Given the description of an element on the screen output the (x, y) to click on. 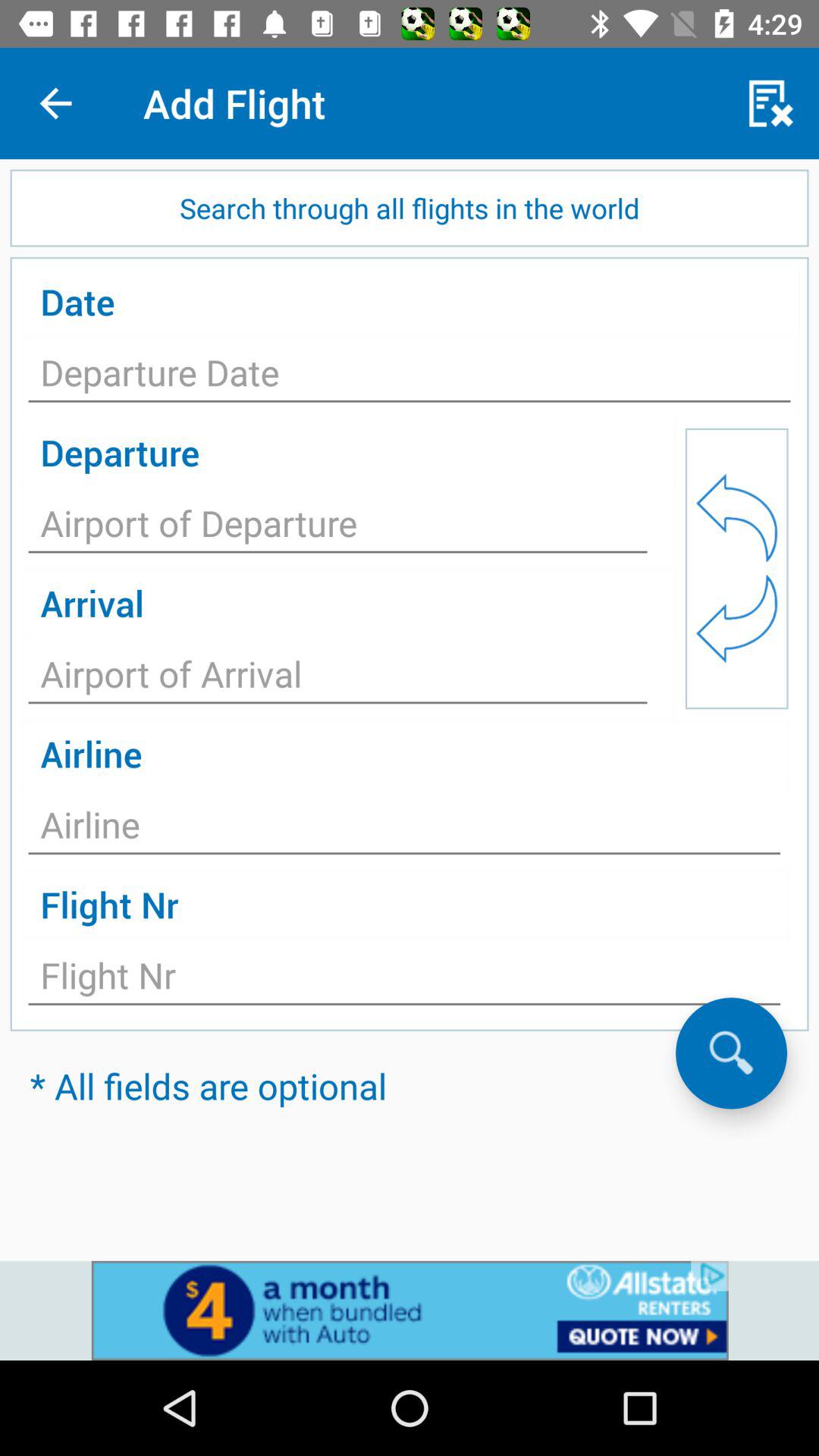
date button (409, 377)
